Given the description of an element on the screen output the (x, y) to click on. 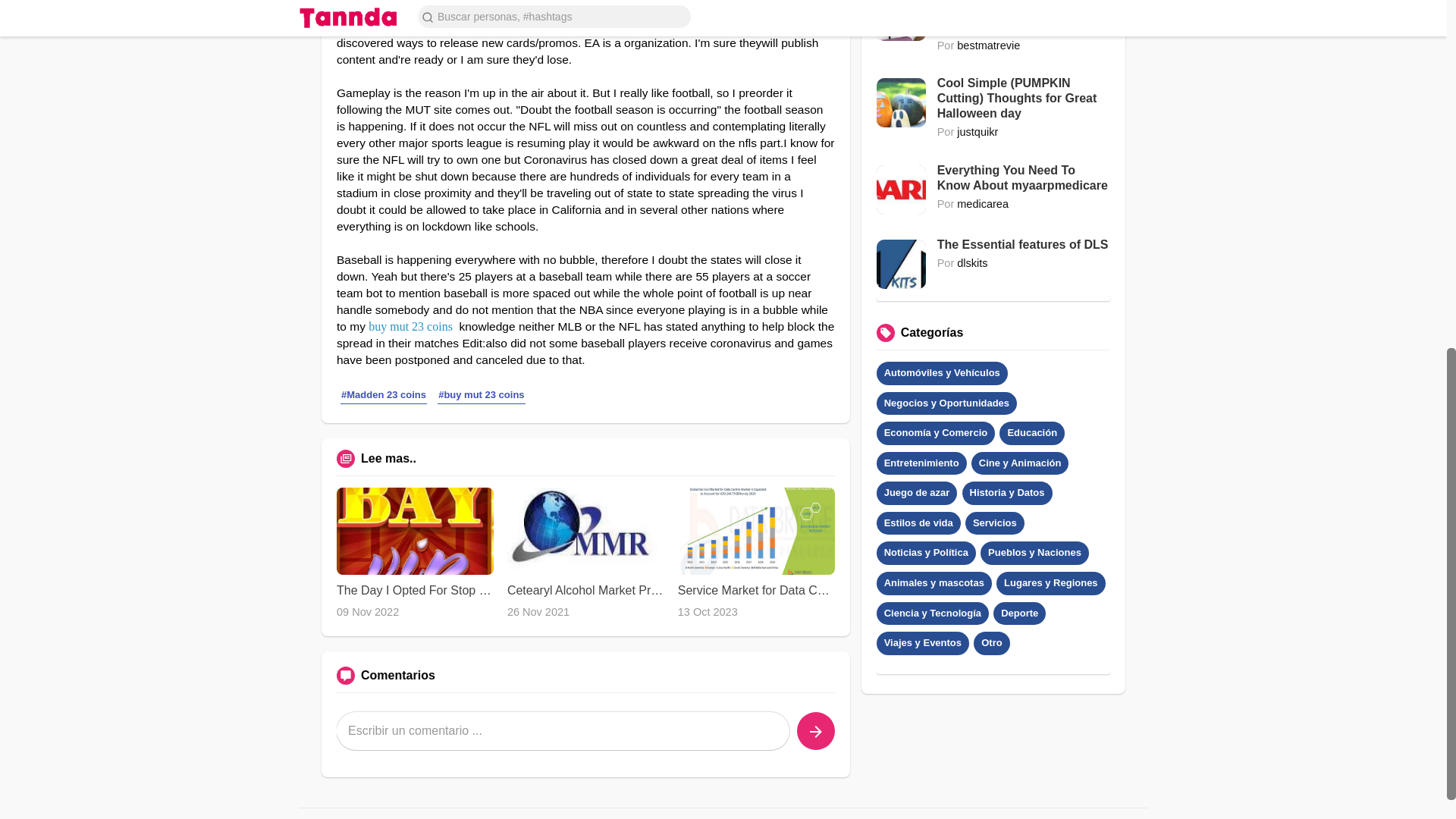
medicarea (982, 203)
BEST YOGA MAT HOLDER WALL MOUNT YOGA MAT STORAGE RACK (1023, 17)
Everything You Need To Know About myaarpmedicare (1023, 177)
Publicacion (815, 730)
justquikr (976, 132)
bestmatrevie (988, 45)
The Day I Opted For Stop Gambling With Gamblers Anonymous (414, 590)
buy mut 23 coins (410, 326)
